Given the description of an element on the screen output the (x, y) to click on. 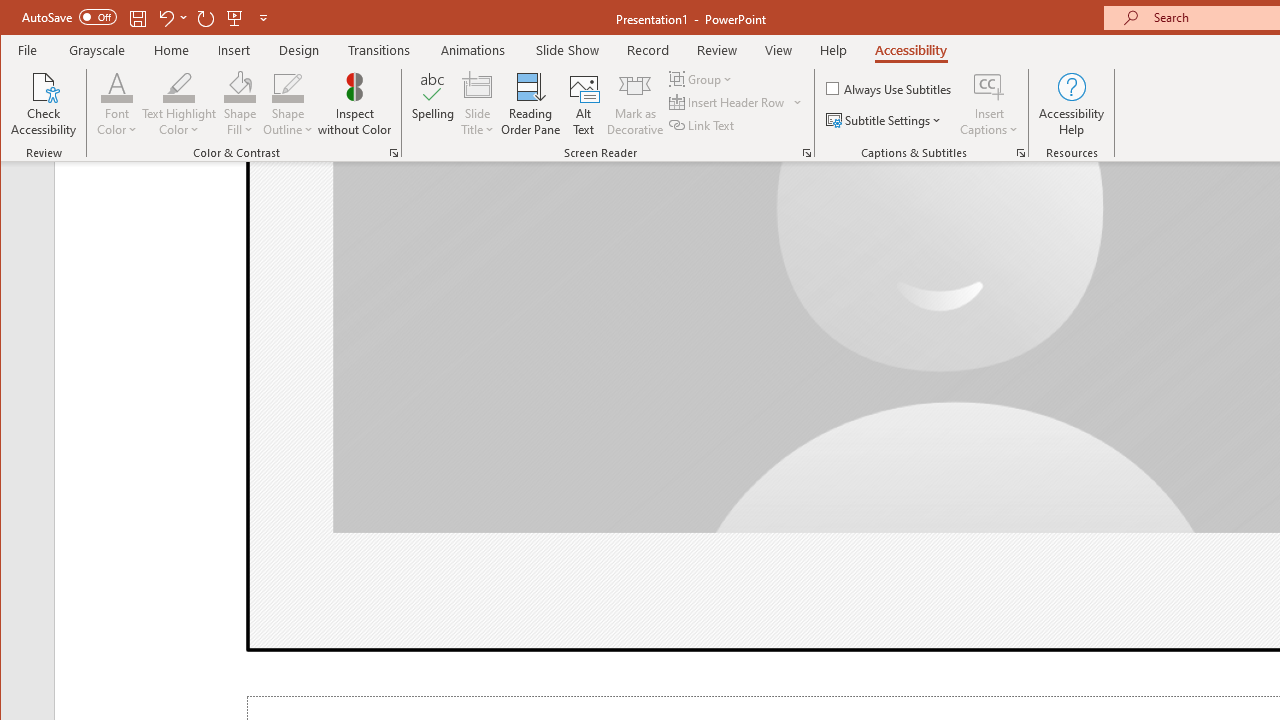
Link Text (703, 124)
